Given the description of an element on the screen output the (x, y) to click on. 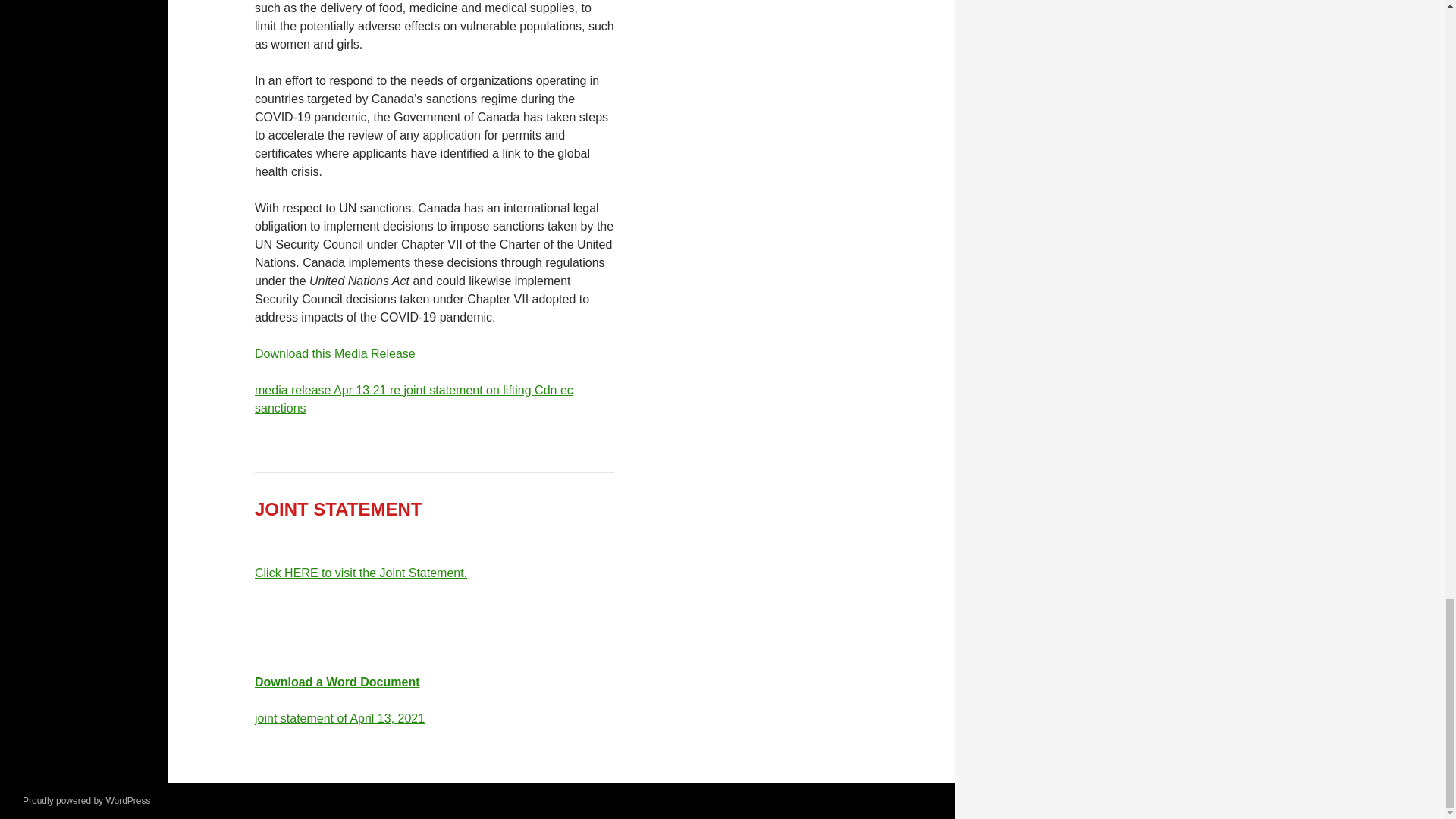
joint statement of April 13, 2021 (339, 717)
Click HERE to visit the Joint Statement. (360, 572)
Download a Word Document (336, 681)
Download this Media Release (334, 353)
